Given the description of an element on the screen output the (x, y) to click on. 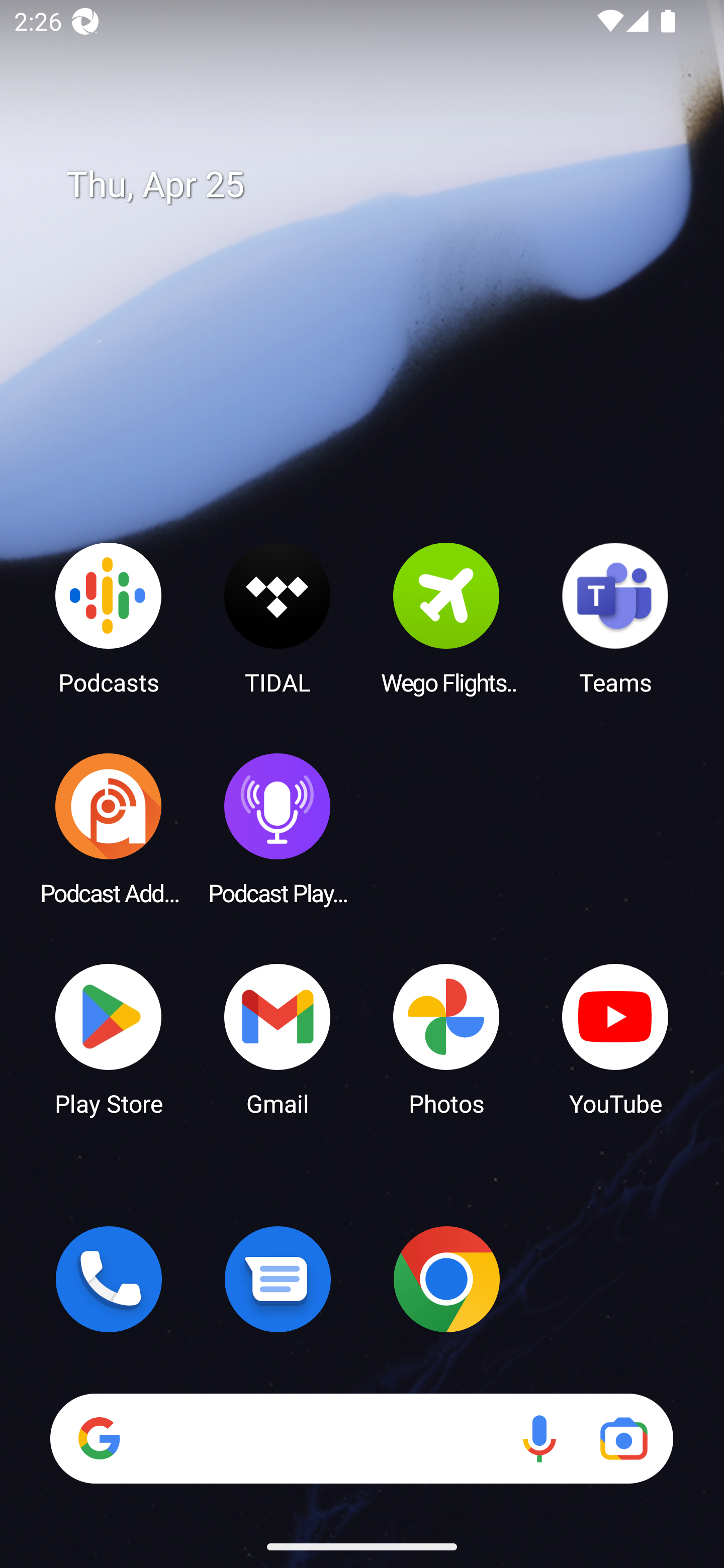
Thu, Apr 25 (375, 184)
Podcasts (108, 617)
TIDAL (277, 617)
Wego Flights & Hotels (445, 617)
Teams (615, 617)
Podcast Addict (108, 828)
Podcast Player (277, 828)
Play Store (108, 1038)
Gmail (277, 1038)
Photos (445, 1038)
YouTube (615, 1038)
Phone (108, 1279)
Messages (277, 1279)
Chrome (446, 1279)
Search Voice search Google Lens (361, 1438)
Voice search (539, 1438)
Google Lens (623, 1438)
